Given the description of an element on the screen output the (x, y) to click on. 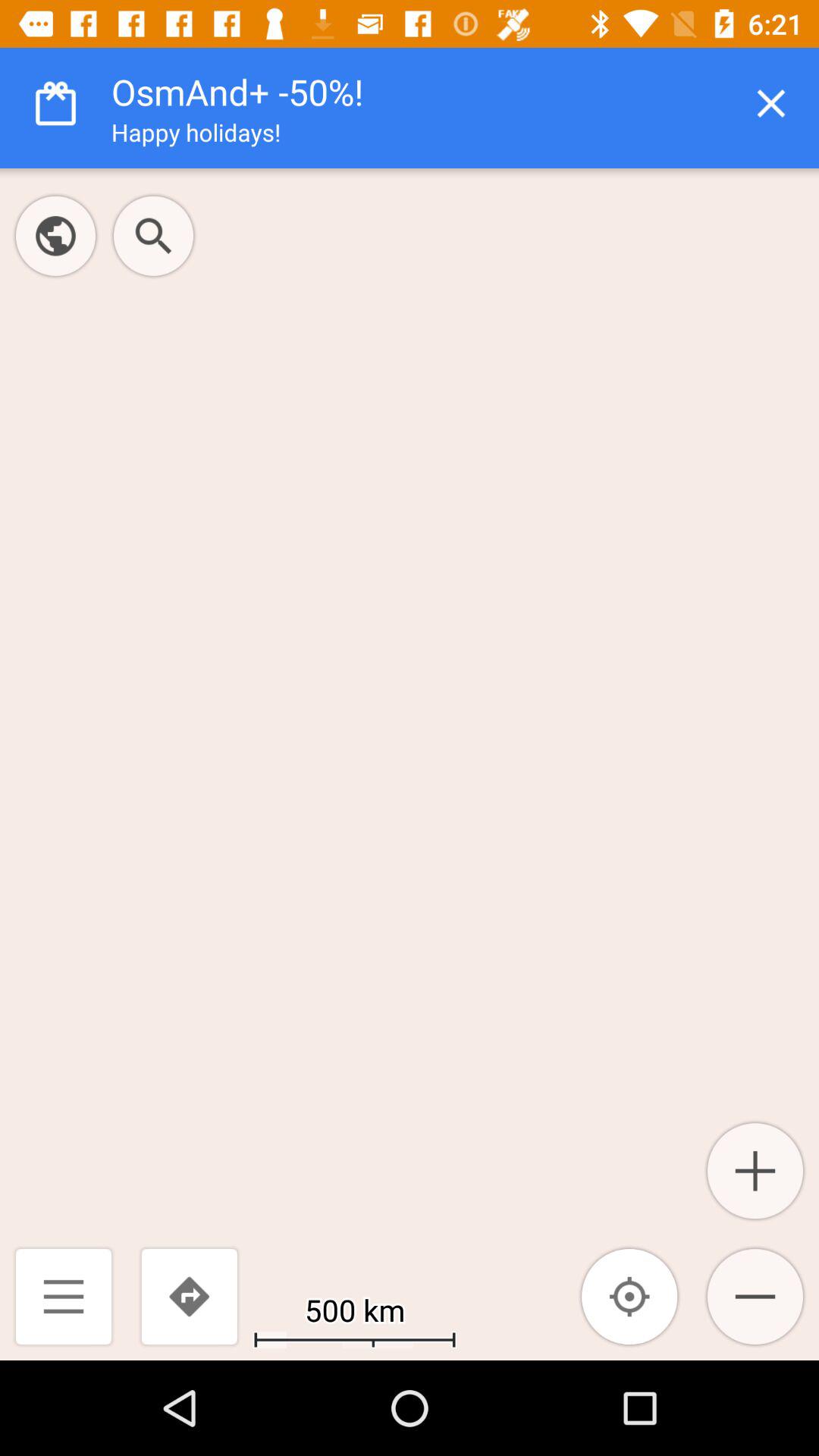
turn off icon to the right of 500 km (629, 1296)
